Given the description of an element on the screen output the (x, y) to click on. 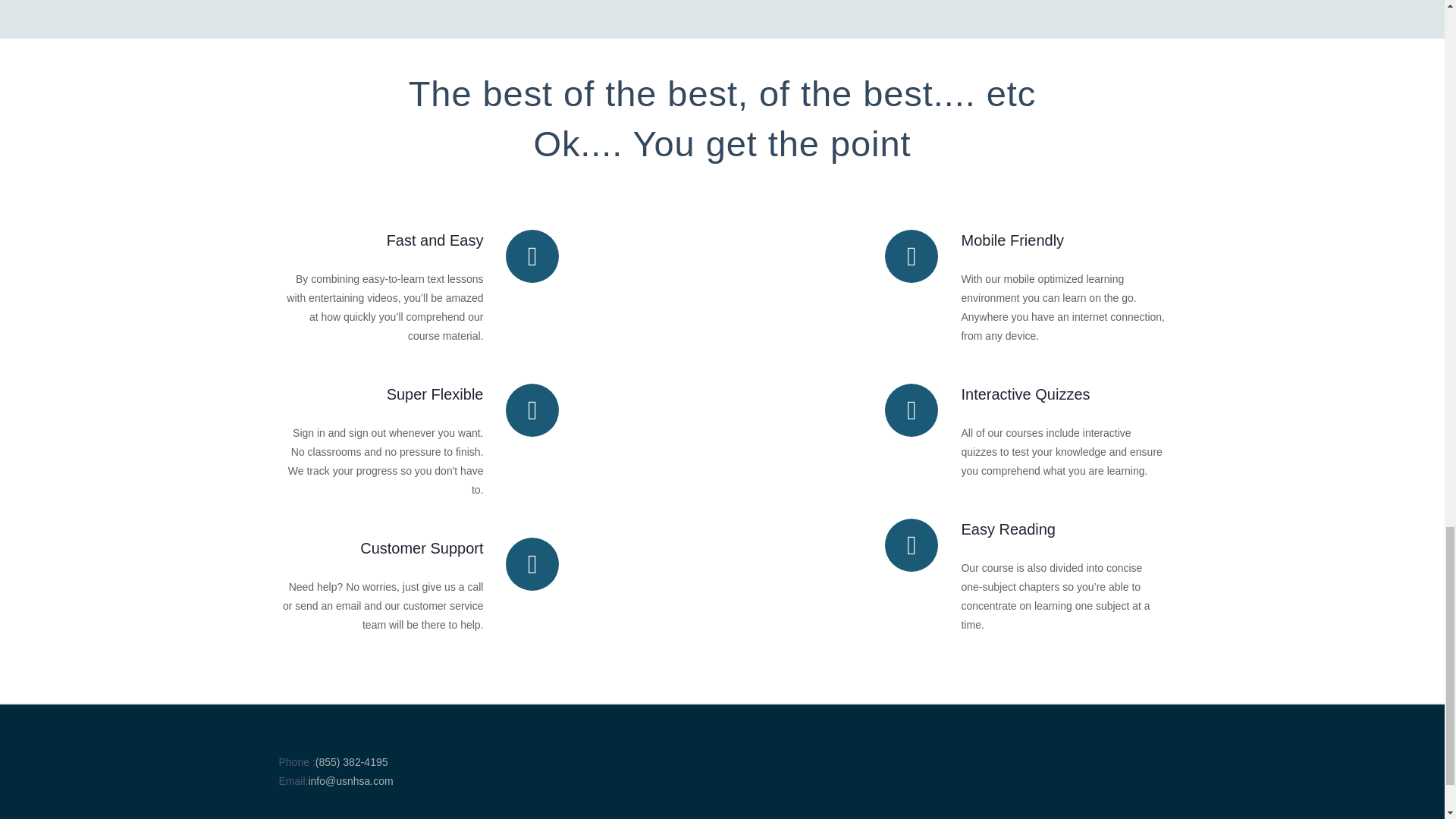
Interactive Quizzes (1024, 393)
Easy Reading (1007, 528)
Mobile Friendly (1012, 239)
